Given the description of an element on the screen output the (x, y) to click on. 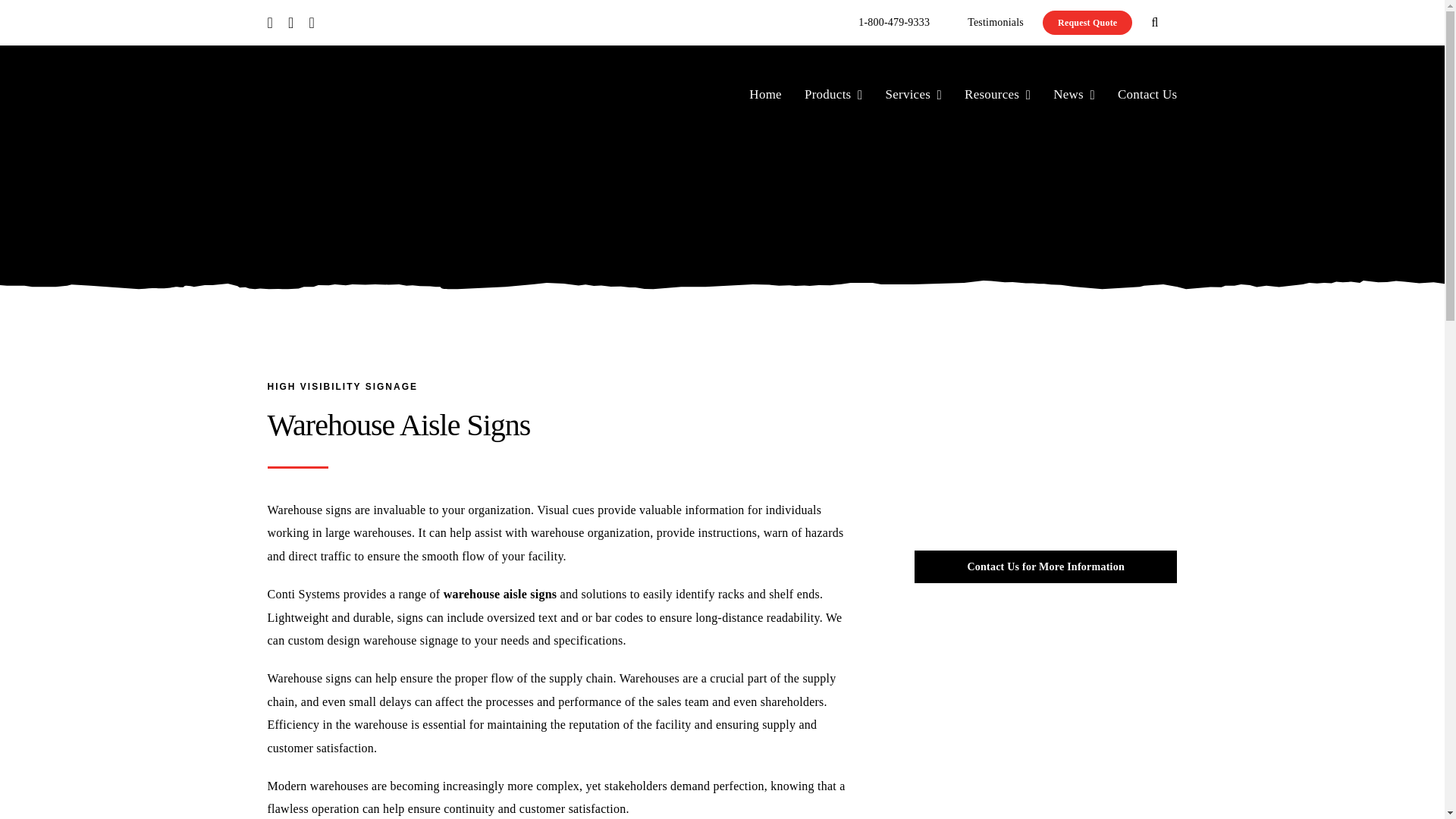
Search (1154, 22)
Products (834, 94)
1-800-479-9333 (894, 22)
Testimonials (995, 22)
Request Quote (1087, 22)
wharehouse-aisle-signs (1045, 458)
